Given the description of an element on the screen output the (x, y) to click on. 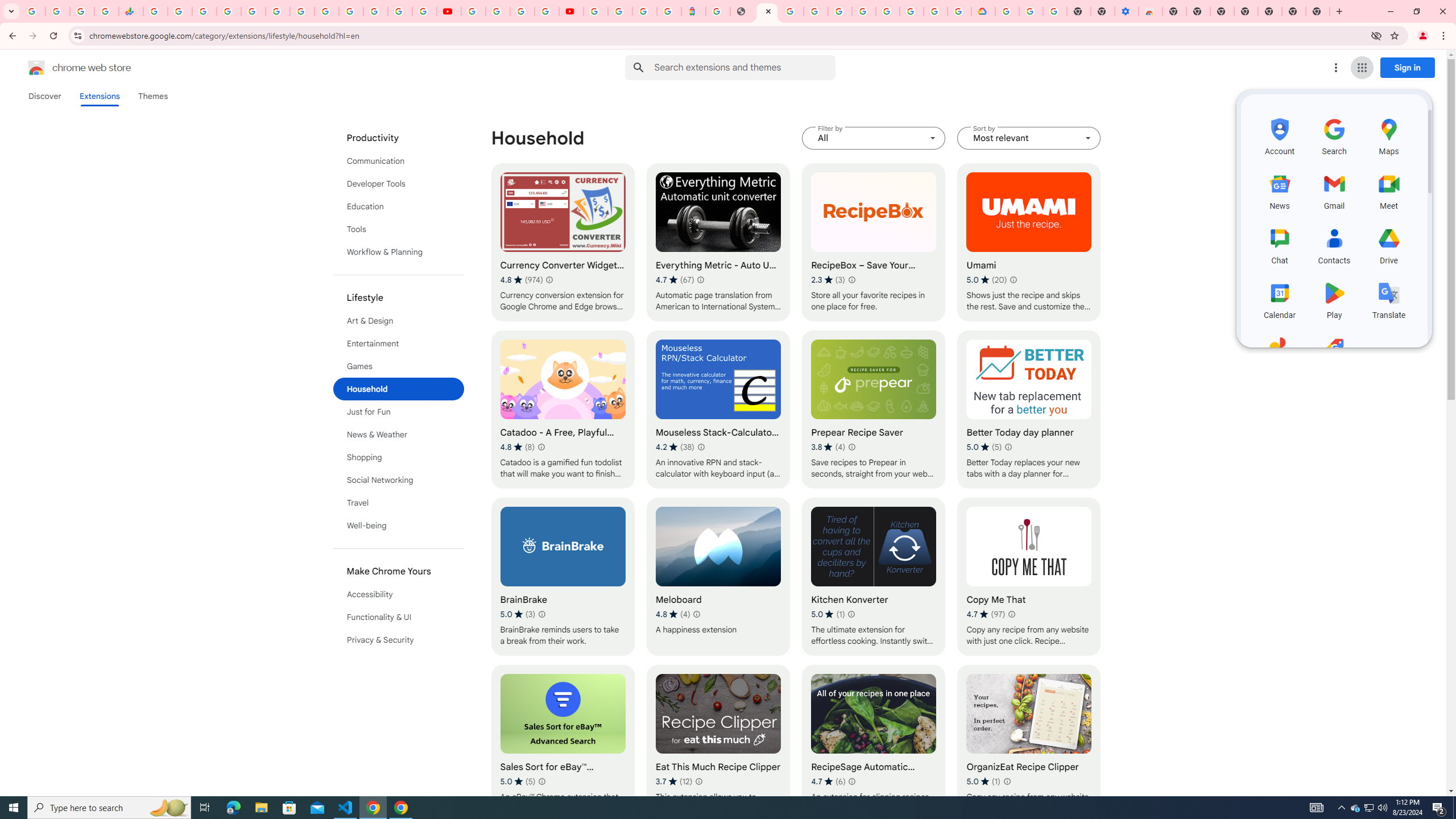
Content Creator Programs & Opportunities - YouTube Creators (570, 11)
Accessibility (398, 594)
Learn more about results and reviews "Umami" (1013, 279)
YouTube (447, 11)
Google Account Help (497, 11)
